Given the description of an element on the screen output the (x, y) to click on. 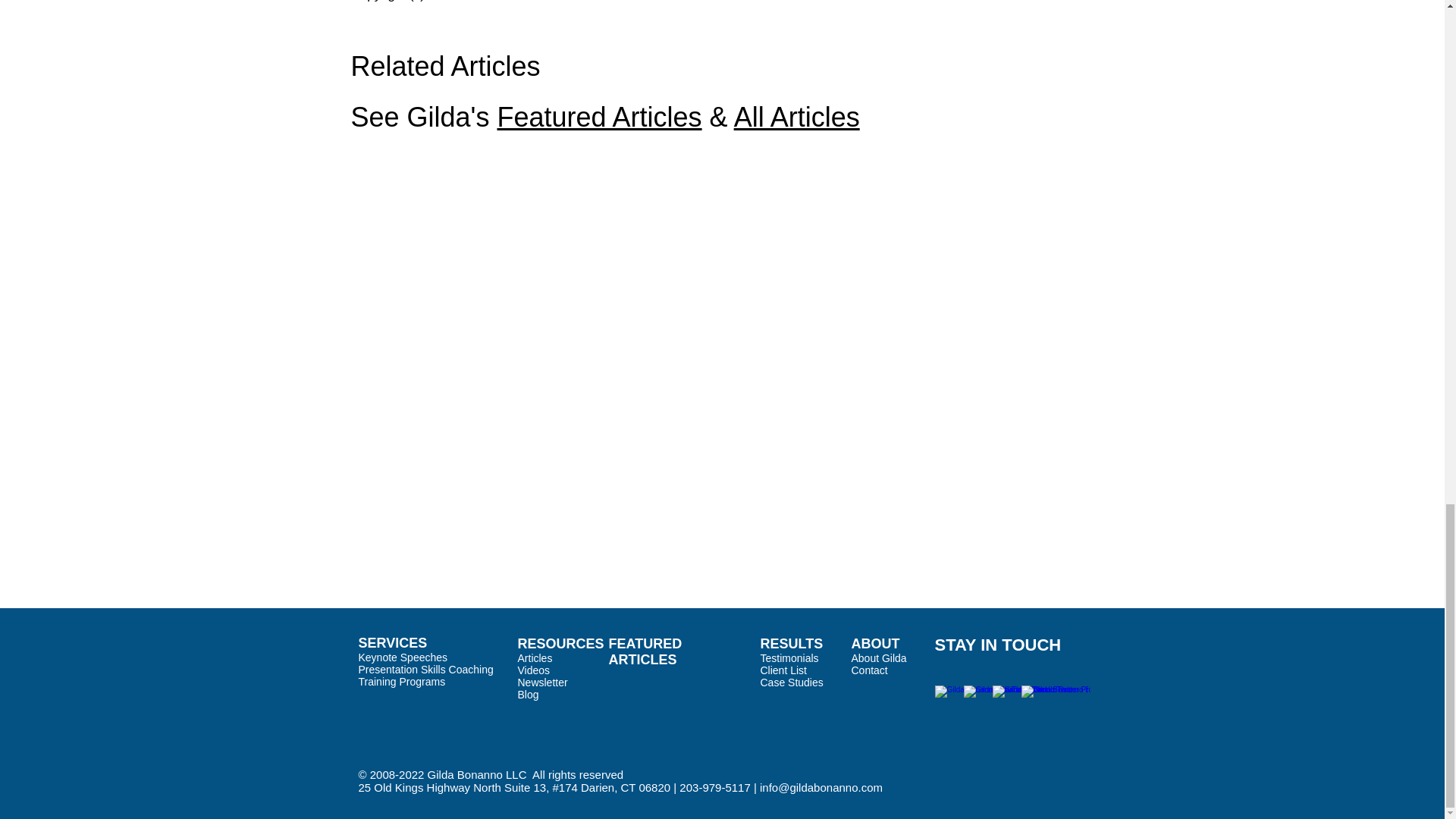
Client List (783, 670)
Testimonials (789, 657)
Articles (533, 657)
Blog (527, 694)
Videos (533, 670)
Presentation Skills Coaching (425, 669)
Case Studies (791, 682)
About Gilda (877, 657)
Keynote Speeches (402, 657)
Contact (868, 670)
